Given the description of an element on the screen output the (x, y) to click on. 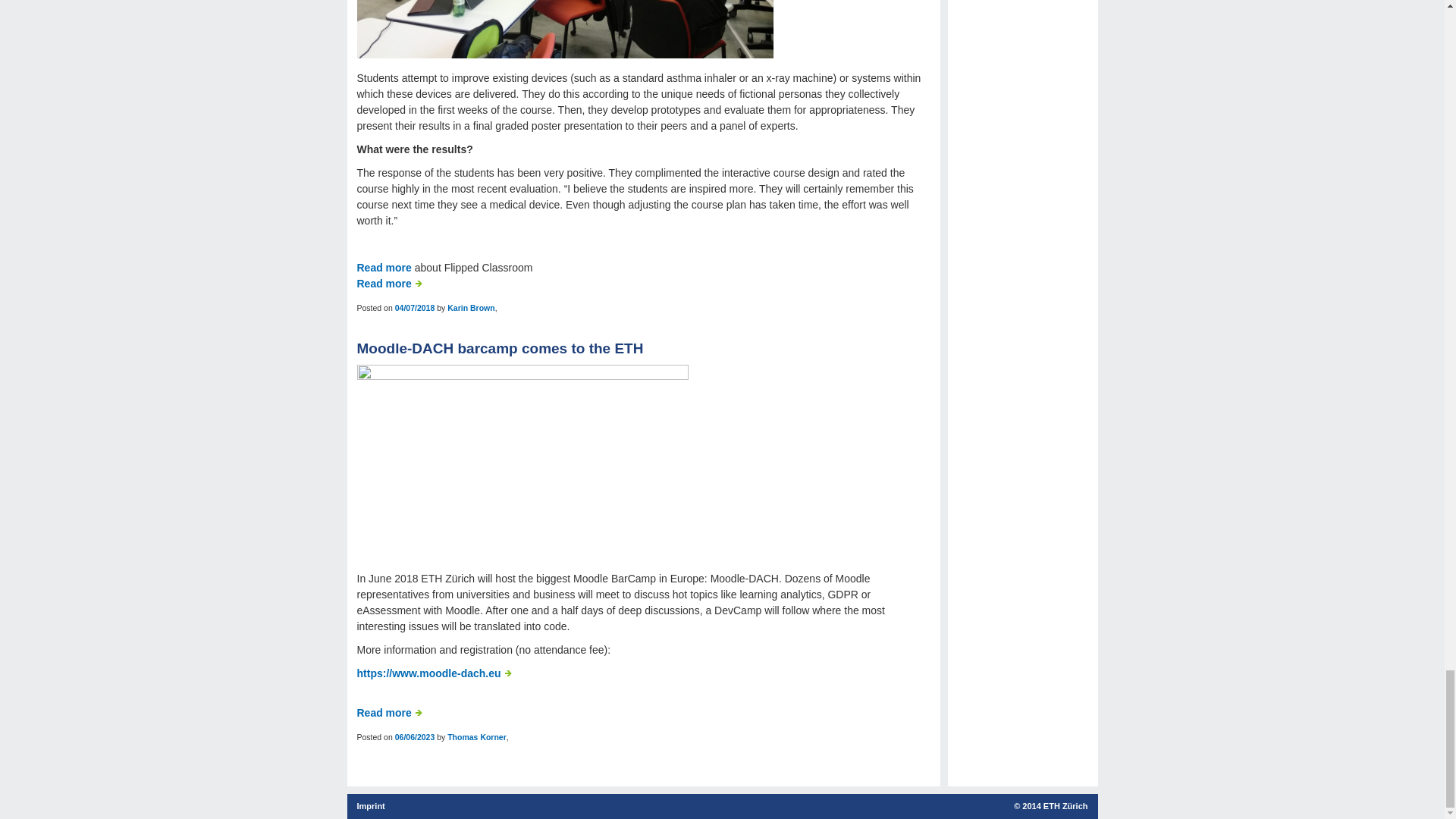
Read more (383, 267)
Read more (389, 283)
Karin Brown (470, 307)
Thomas Korner (476, 737)
Read more (389, 712)
